Given the description of an element on the screen output the (x, y) to click on. 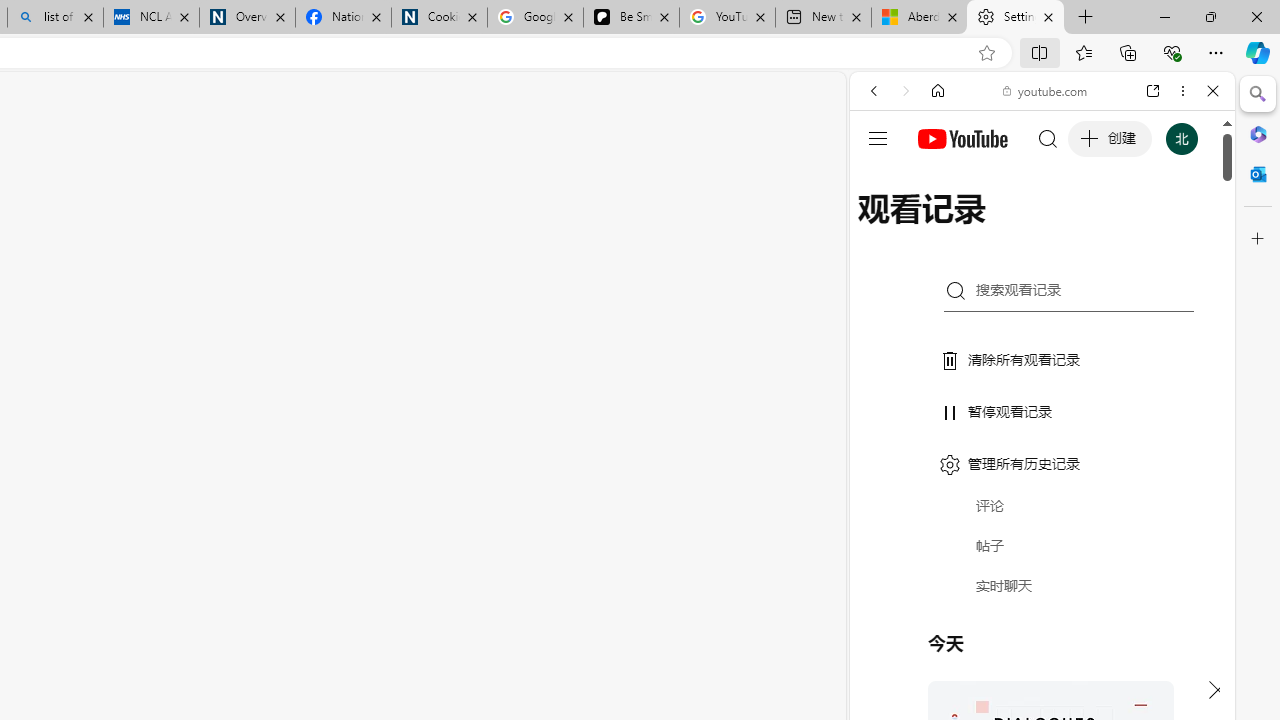
Music (1042, 543)
YouTube (1034, 296)
Forward (906, 91)
Google (1042, 494)
Google (1042, 494)
This site scope (936, 180)
WEB   (882, 228)
